Given the description of an element on the screen output the (x, y) to click on. 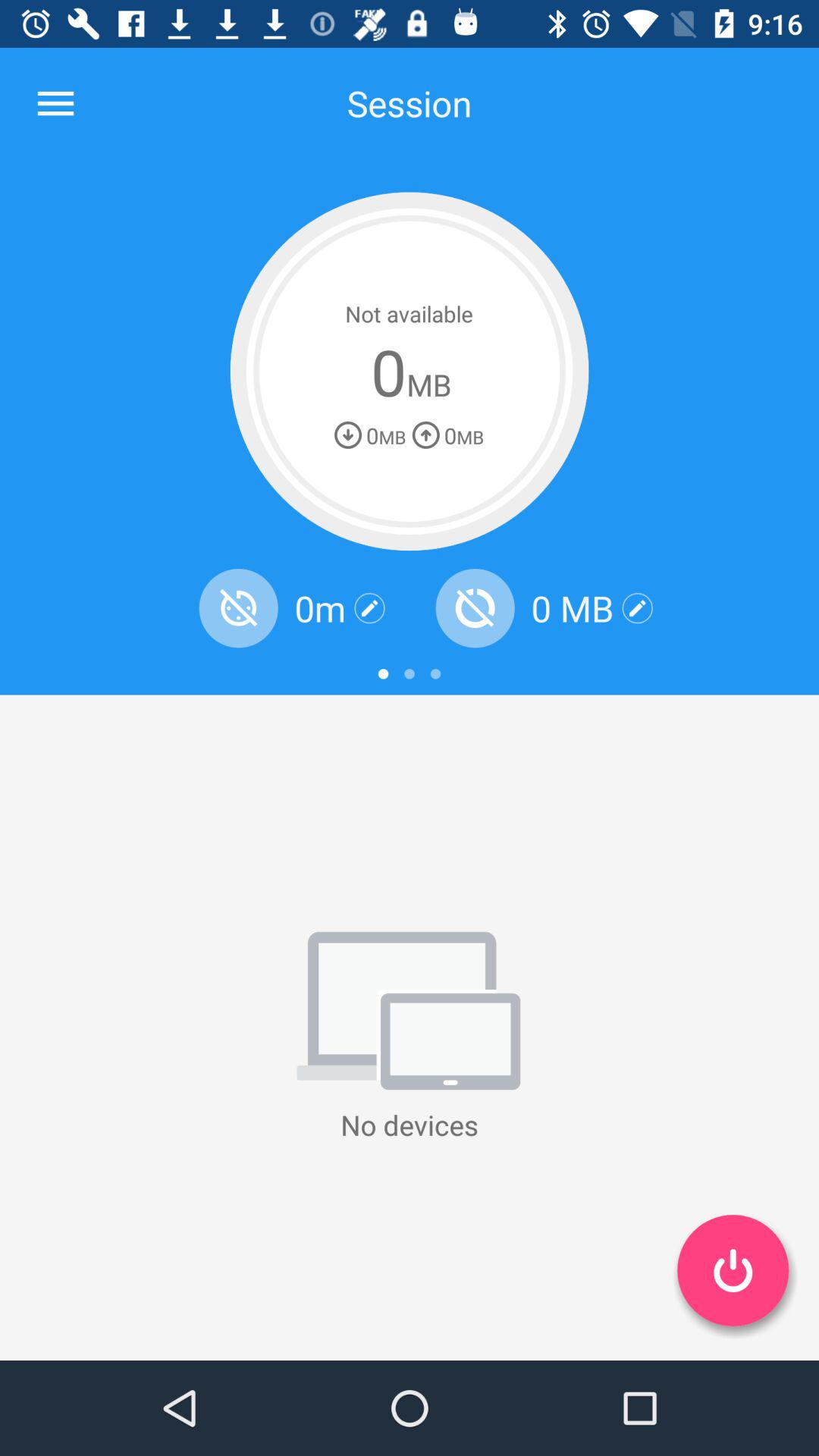
launch the icon below no devices item (733, 1270)
